Given the description of an element on the screen output the (x, y) to click on. 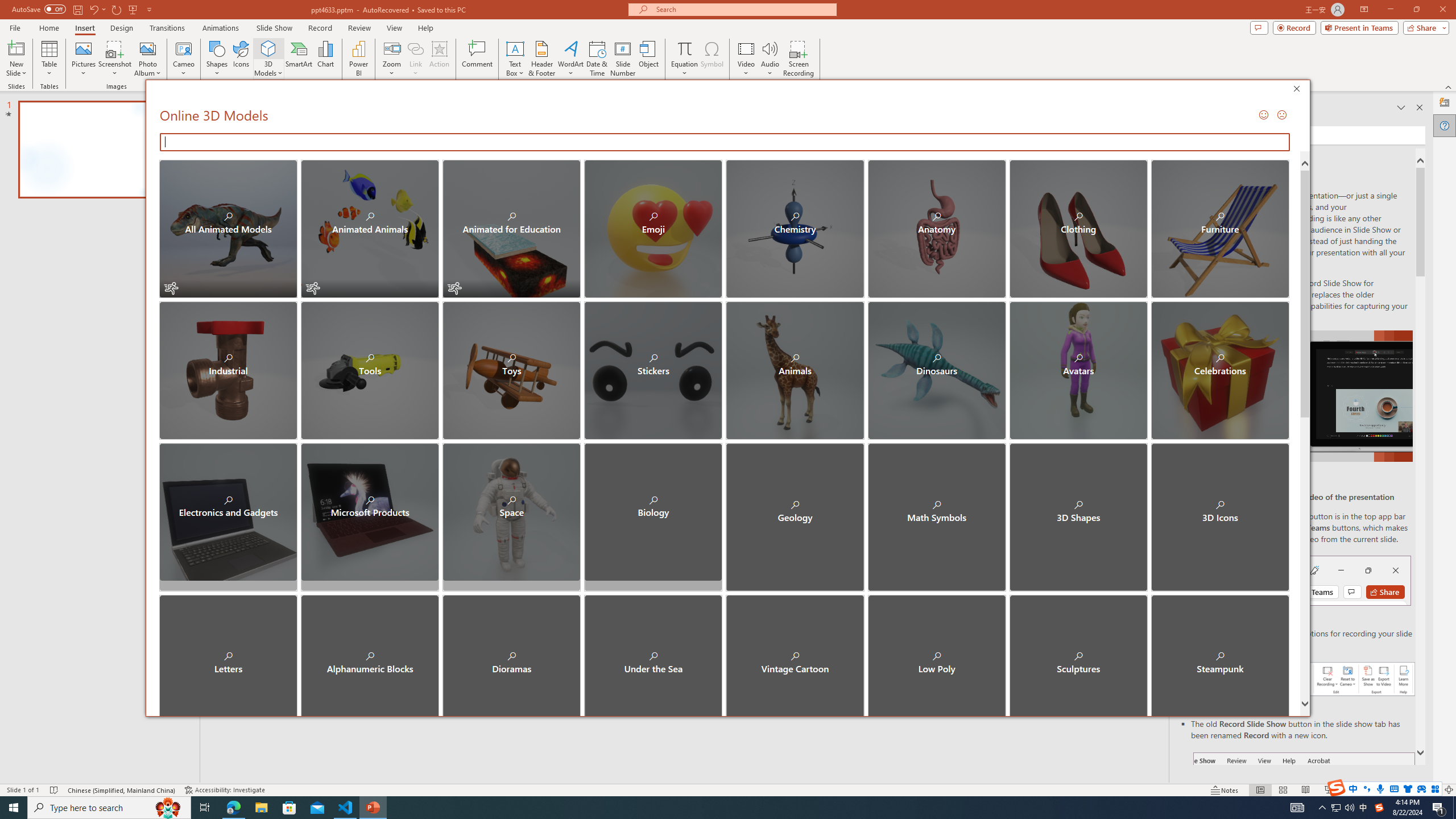
Link (415, 58)
Geology (794, 511)
Math Symbols (936, 511)
Object... (649, 58)
Screen Recording... (798, 58)
Header & Footer... (541, 58)
